Given the description of an element on the screen output the (x, y) to click on. 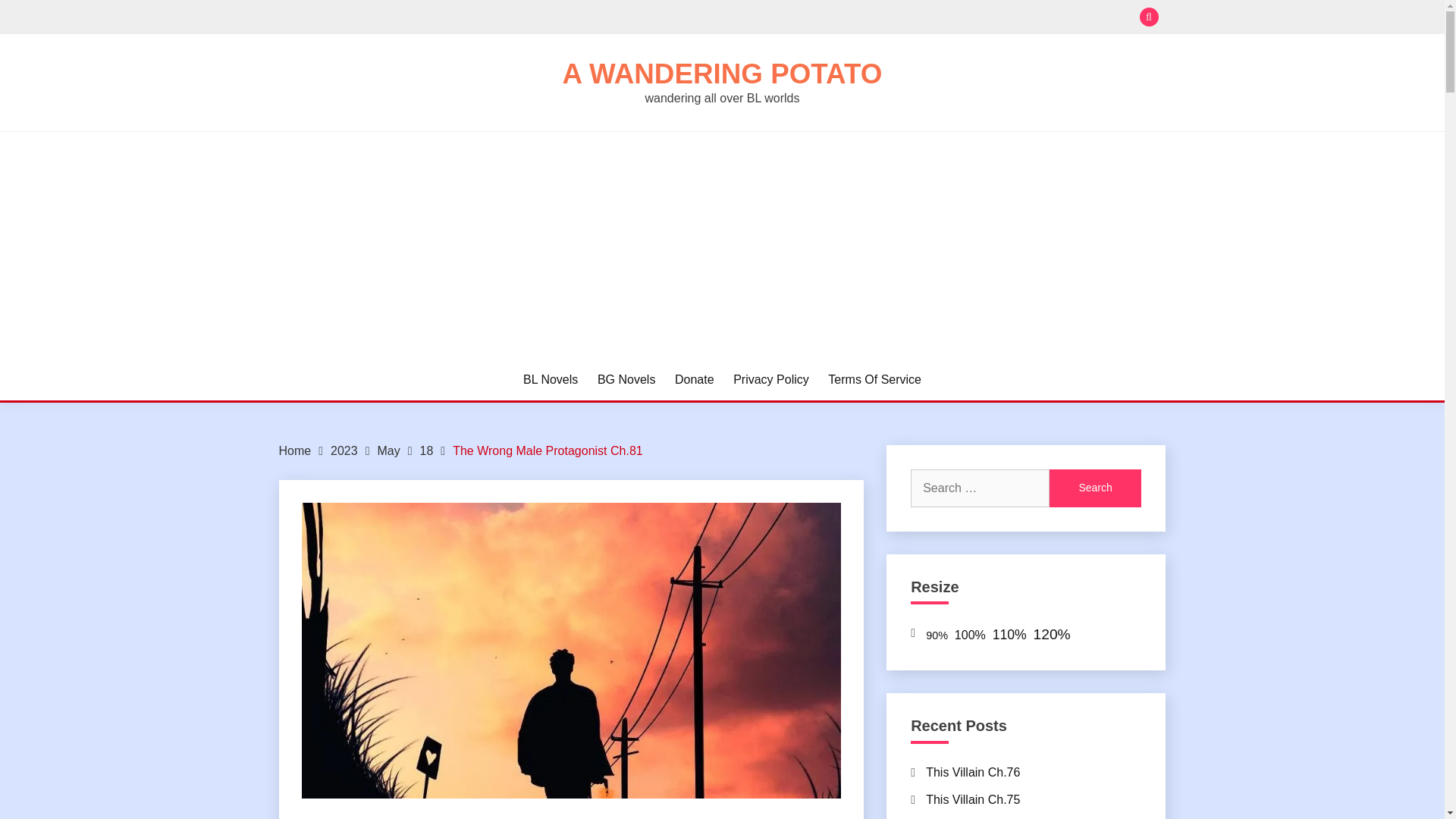
Search (1095, 487)
BG Novels (625, 380)
A WANDERING POTATO (722, 73)
Search (1095, 487)
Terms Of Service (874, 380)
Search (832, 18)
18 (426, 450)
Home (295, 450)
Donate (694, 380)
